Given the description of an element on the screen output the (x, y) to click on. 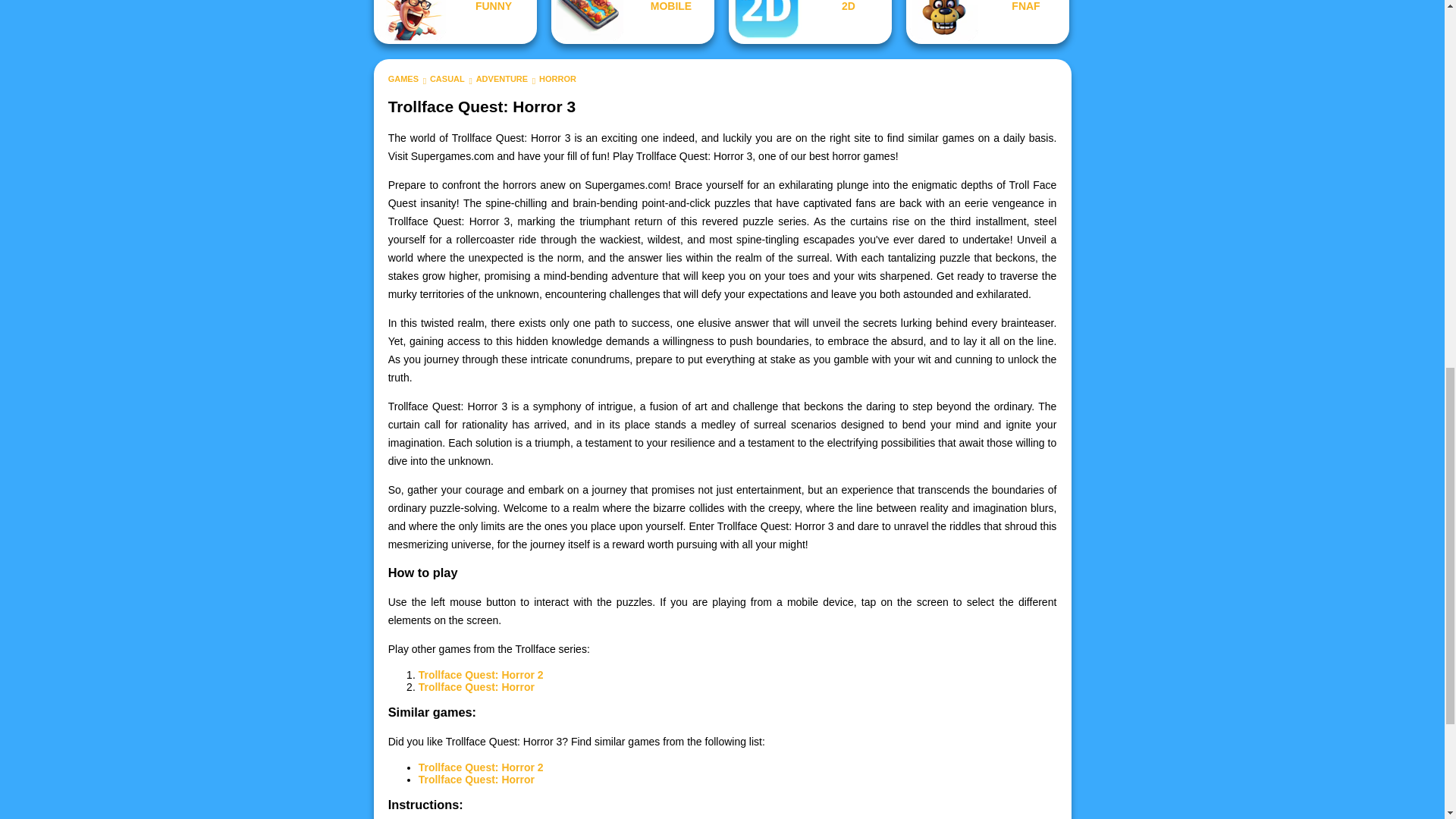
MOBILE (632, 22)
ADVENTURE (501, 78)
Trollface Quest: Horror 2 (481, 674)
Trollface Quest: Horror (476, 779)
FUNNY (455, 22)
GAMES (403, 78)
Trollface Quest: Horror (476, 686)
2D (810, 22)
FNAF (986, 22)
Trollface Quest: Horror 2 (481, 767)
HORROR (557, 78)
CASUAL (446, 78)
